Given the description of an element on the screen output the (x, y) to click on. 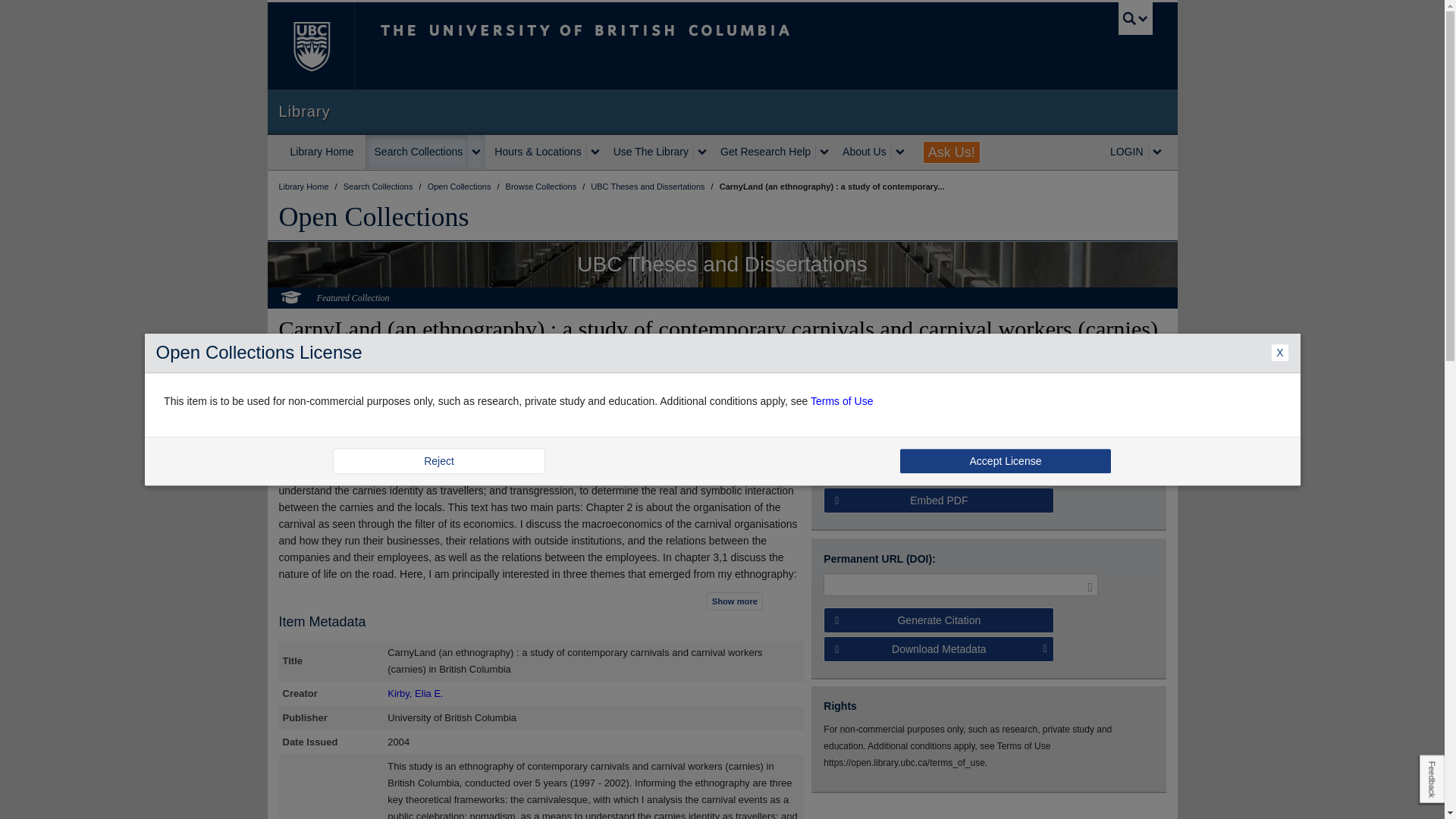
Search Collections (416, 151)
Search Collections (378, 185)
open file (846, 434)
Open Collections (460, 185)
Library Home (322, 151)
UBC Search (1135, 18)
The University of British Columbia (309, 45)
UBC Library (305, 185)
Browse Collections (542, 185)
The University of British Columbia (635, 45)
